Given the description of an element on the screen output the (x, y) to click on. 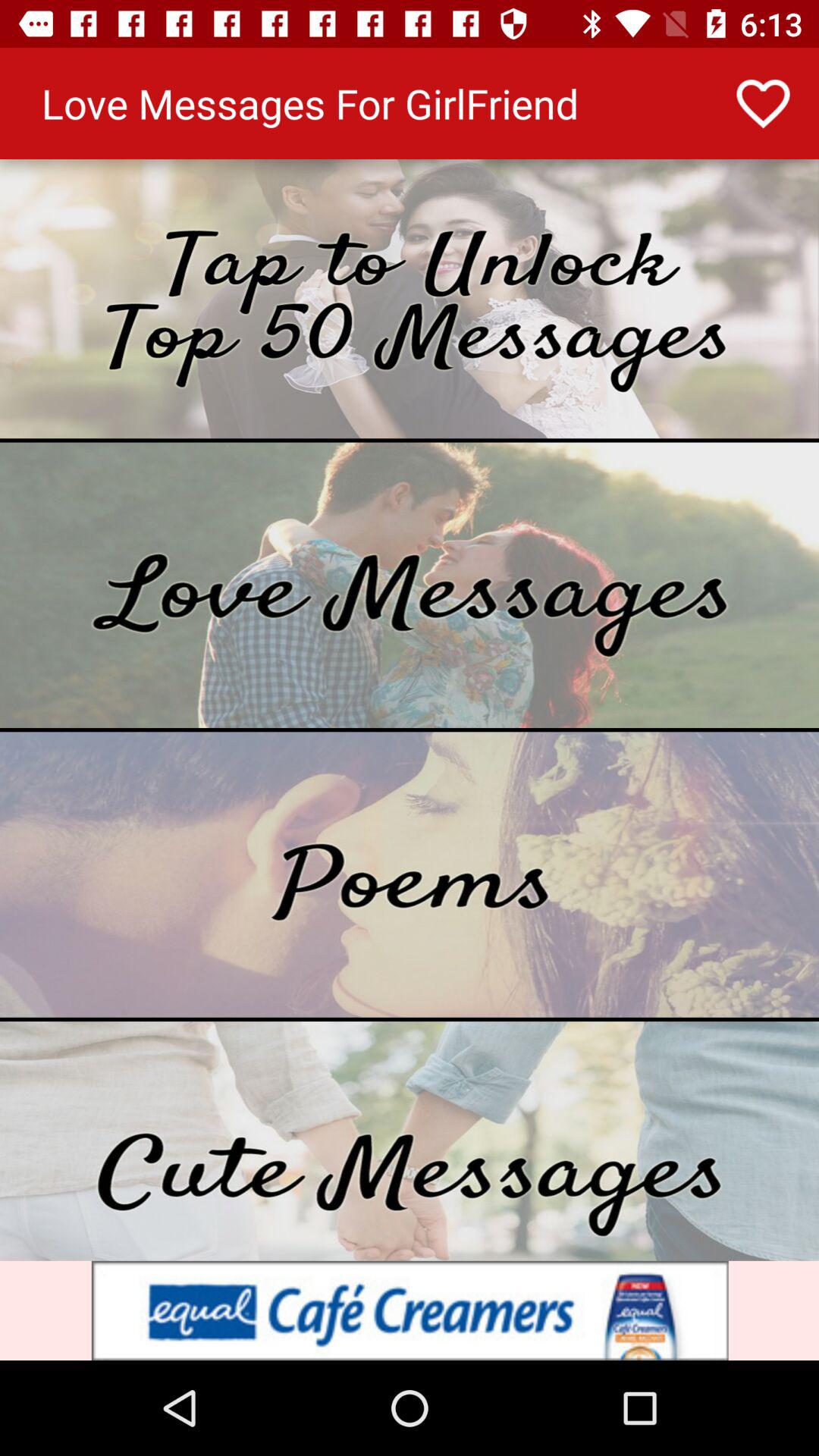
item selection choice (409, 298)
